Given the description of an element on the screen output the (x, y) to click on. 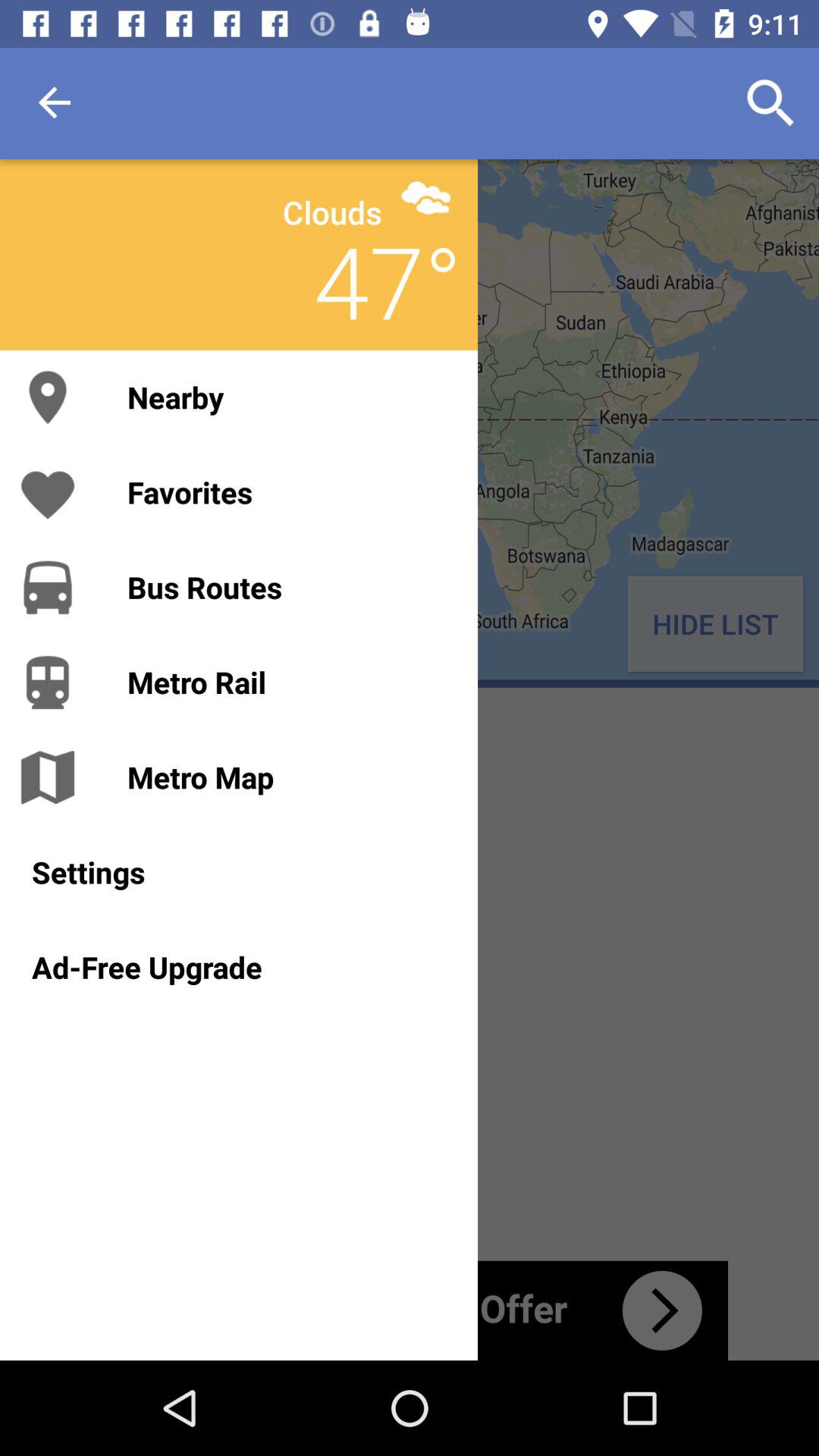
find offers (409, 1310)
